Given the description of an element on the screen output the (x, y) to click on. 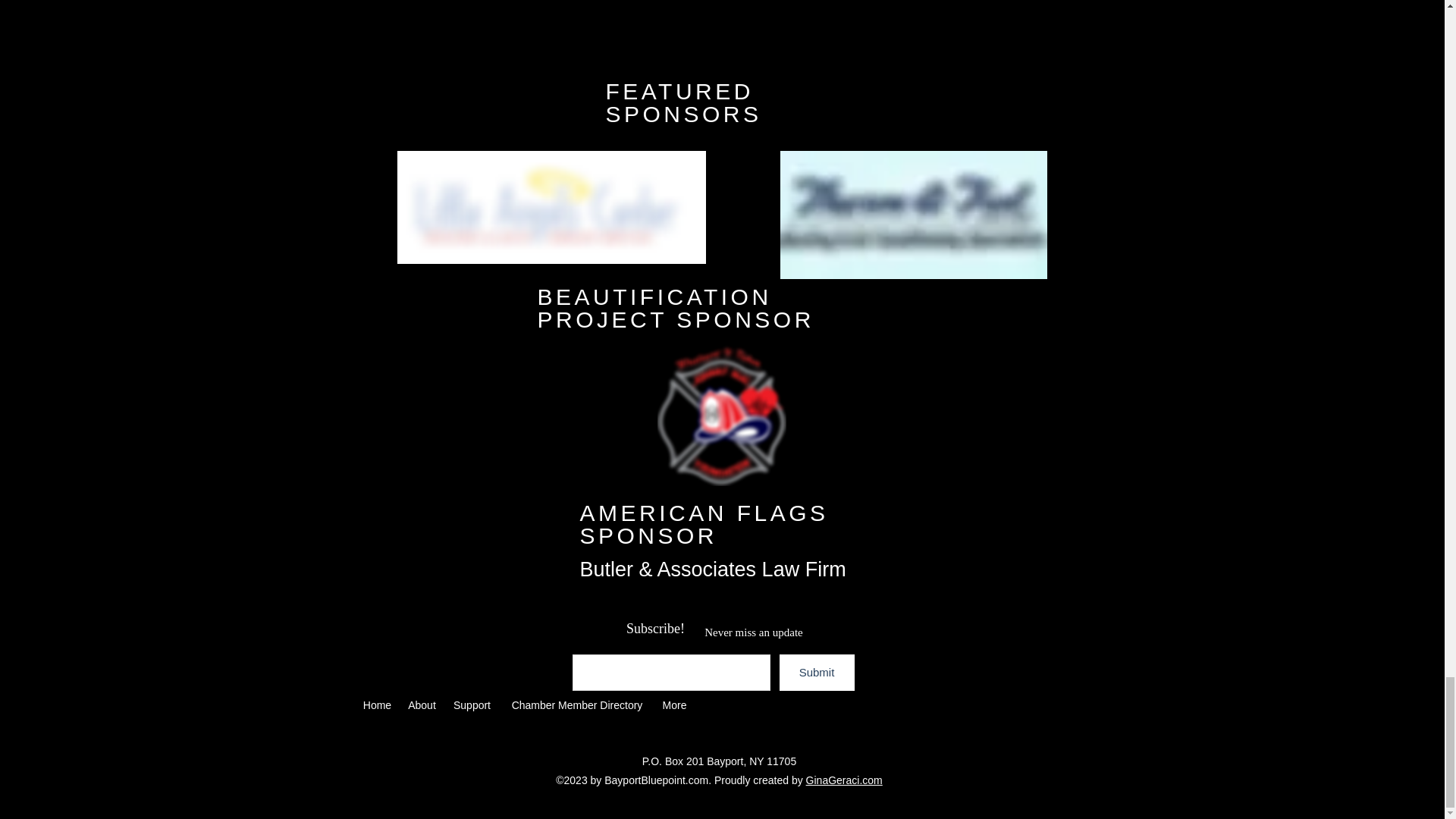
johnny mac foundation logo.png (721, 415)
